Given the description of an element on the screen output the (x, y) to click on. 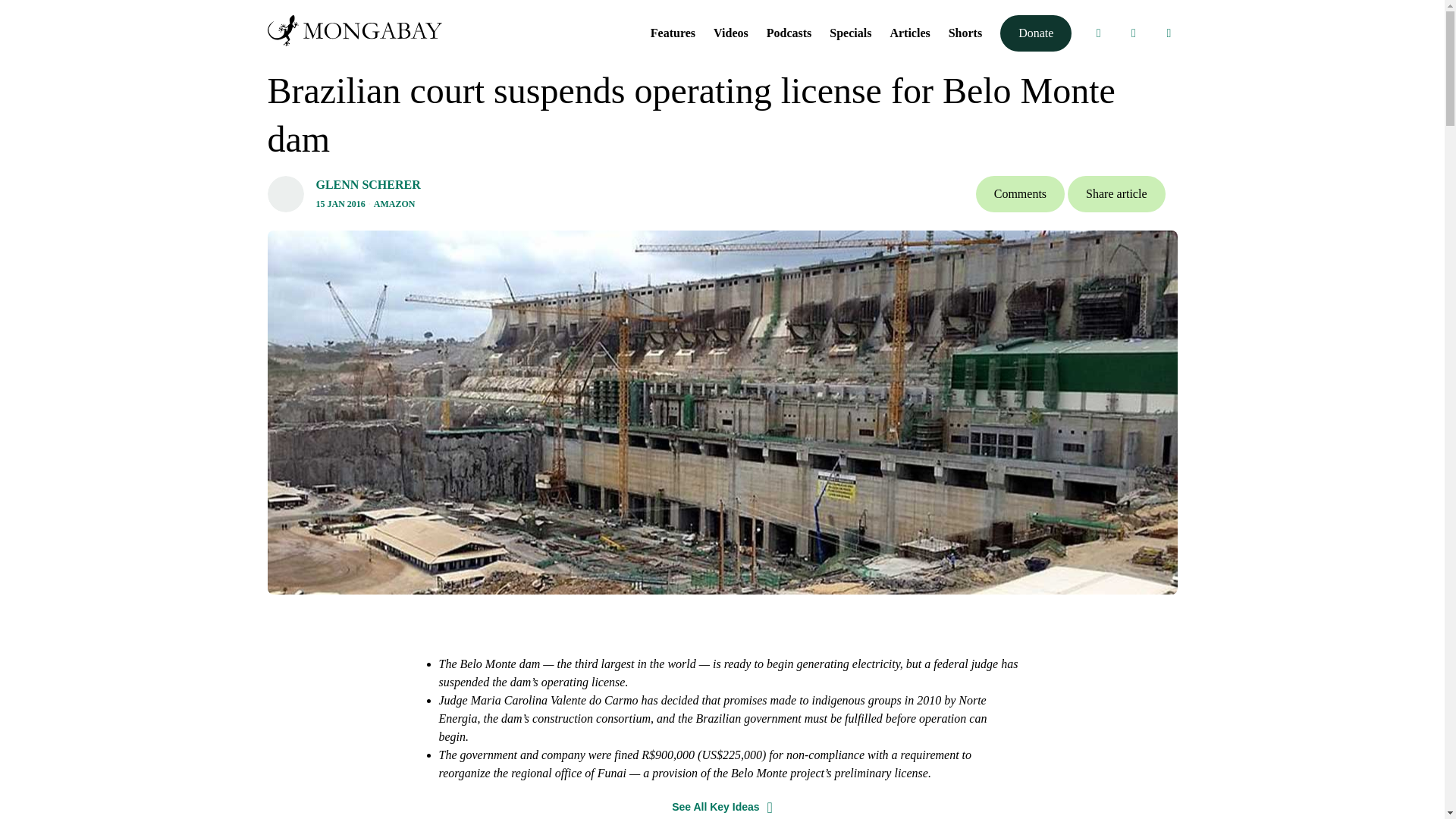
Videos (730, 32)
Donate (1035, 33)
Specials (849, 32)
Articles (909, 32)
Shorts (965, 32)
Features (672, 32)
Podcasts (789, 32)
